Given the description of an element on the screen output the (x, y) to click on. 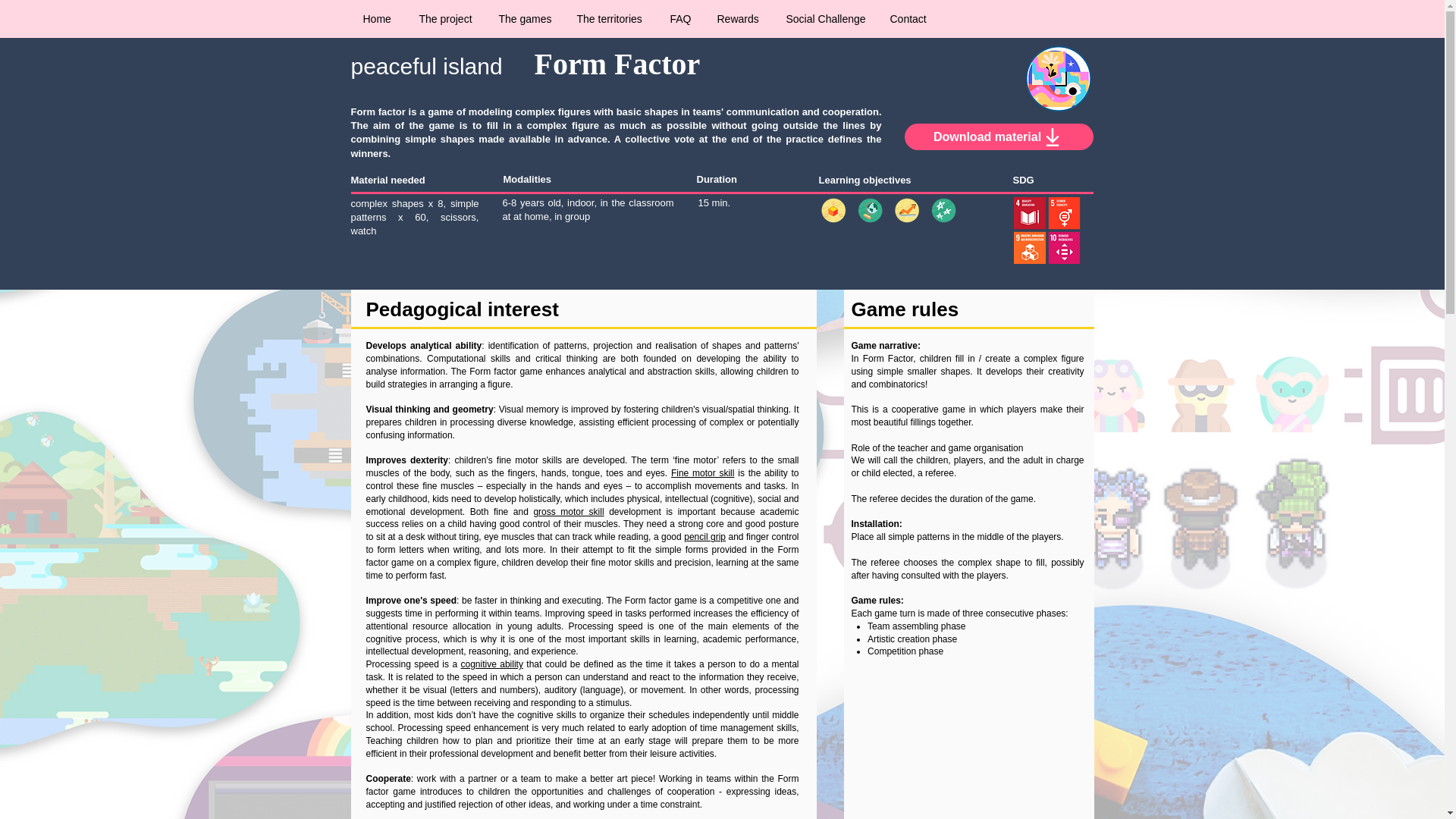
cognitive ability (491, 664)
Download material (998, 136)
Home (379, 18)
The games (525, 18)
Fine motor skill (703, 472)
Rewards (739, 18)
gross motor skill (568, 511)
Contact (908, 18)
The territories (612, 18)
pencil grip (704, 536)
FAQ (681, 18)
Social Challenge (826, 18)
The project (447, 18)
